Given the description of an element on the screen output the (x, y) to click on. 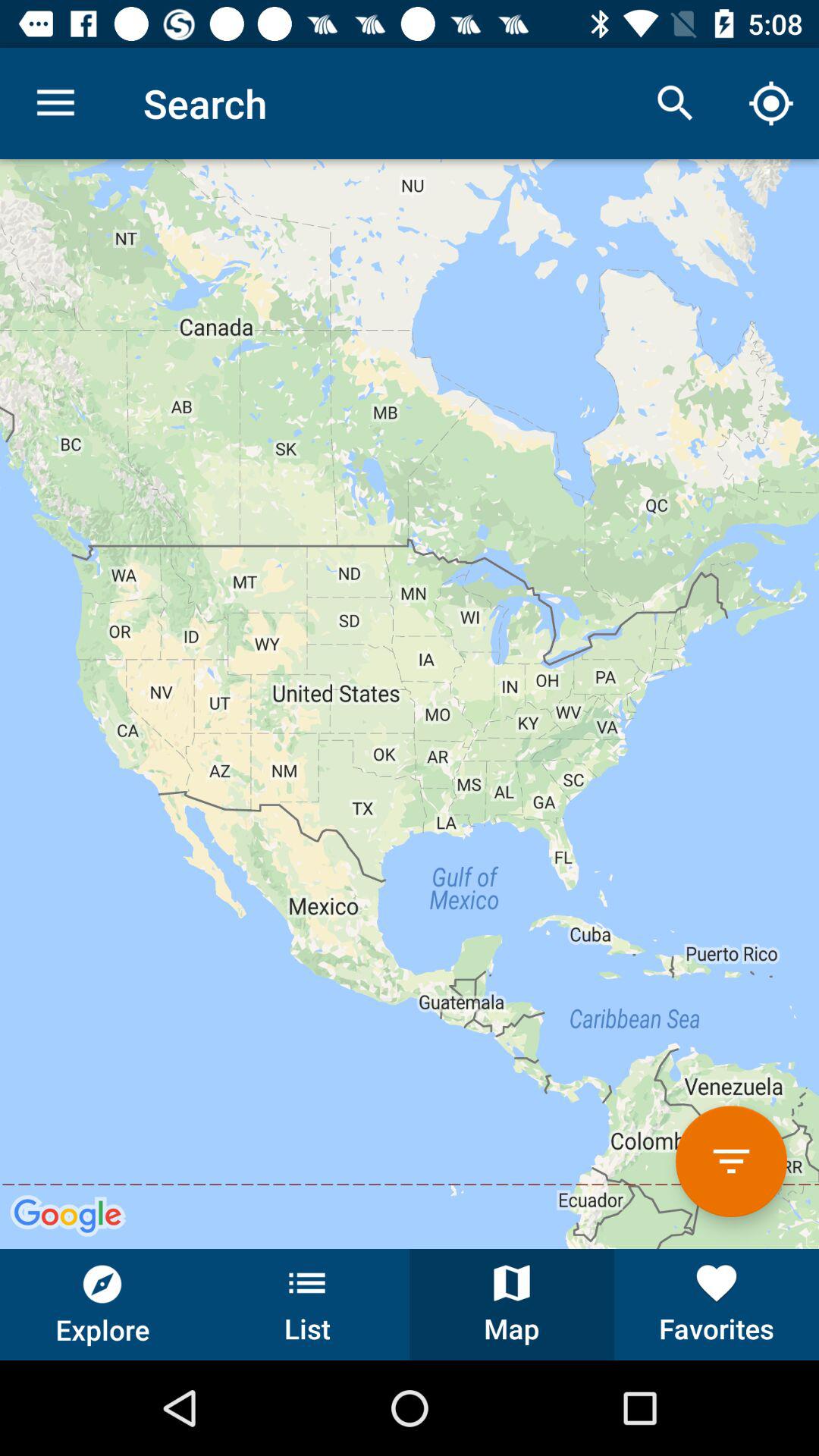
choose the icon to the left of the list icon (102, 1304)
